Given the description of an element on the screen output the (x, y) to click on. 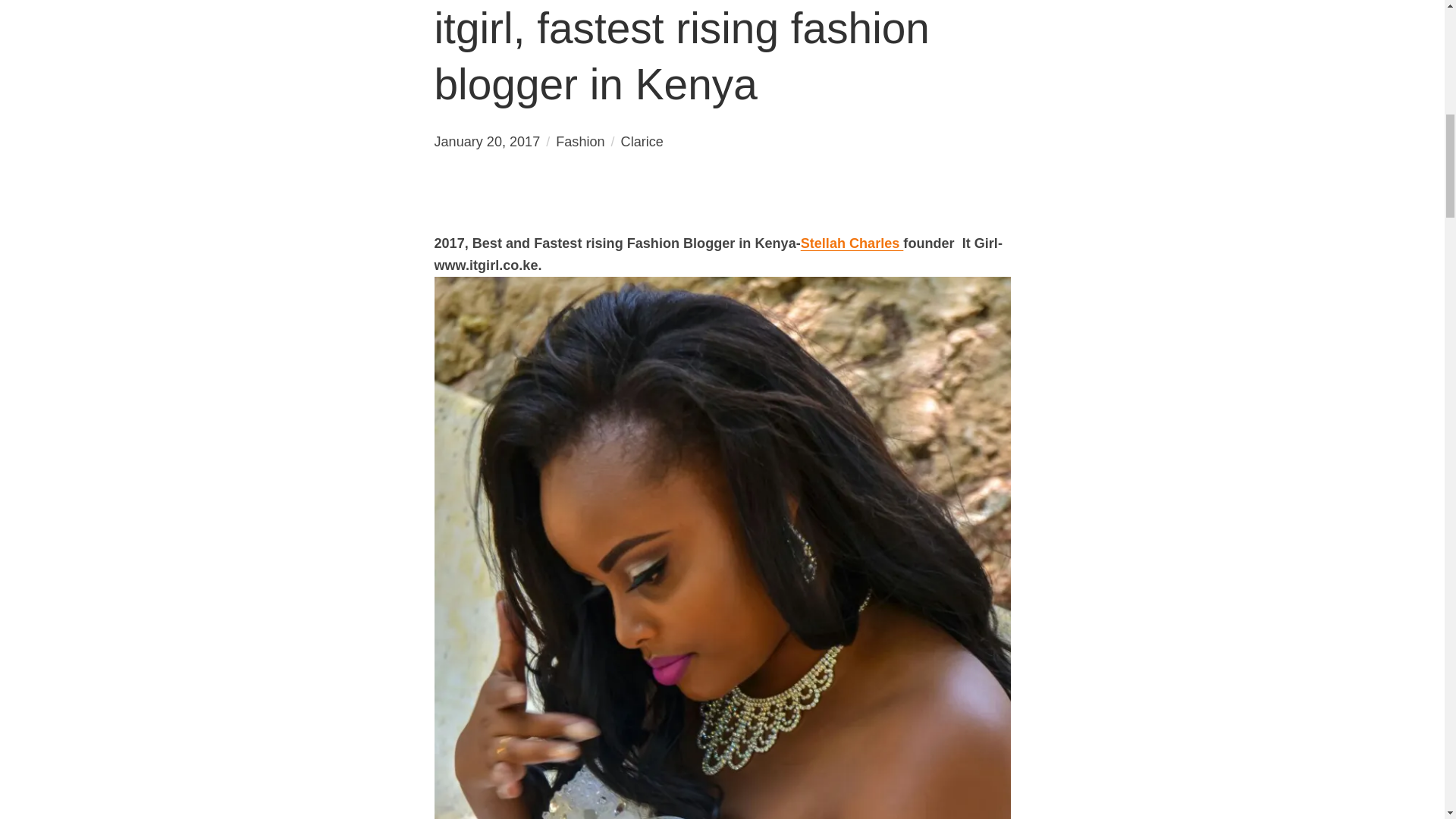
January 20, 2017 (486, 141)
Stellah Charles (852, 242)
Fashion (580, 141)
